Given the description of an element on the screen output the (x, y) to click on. 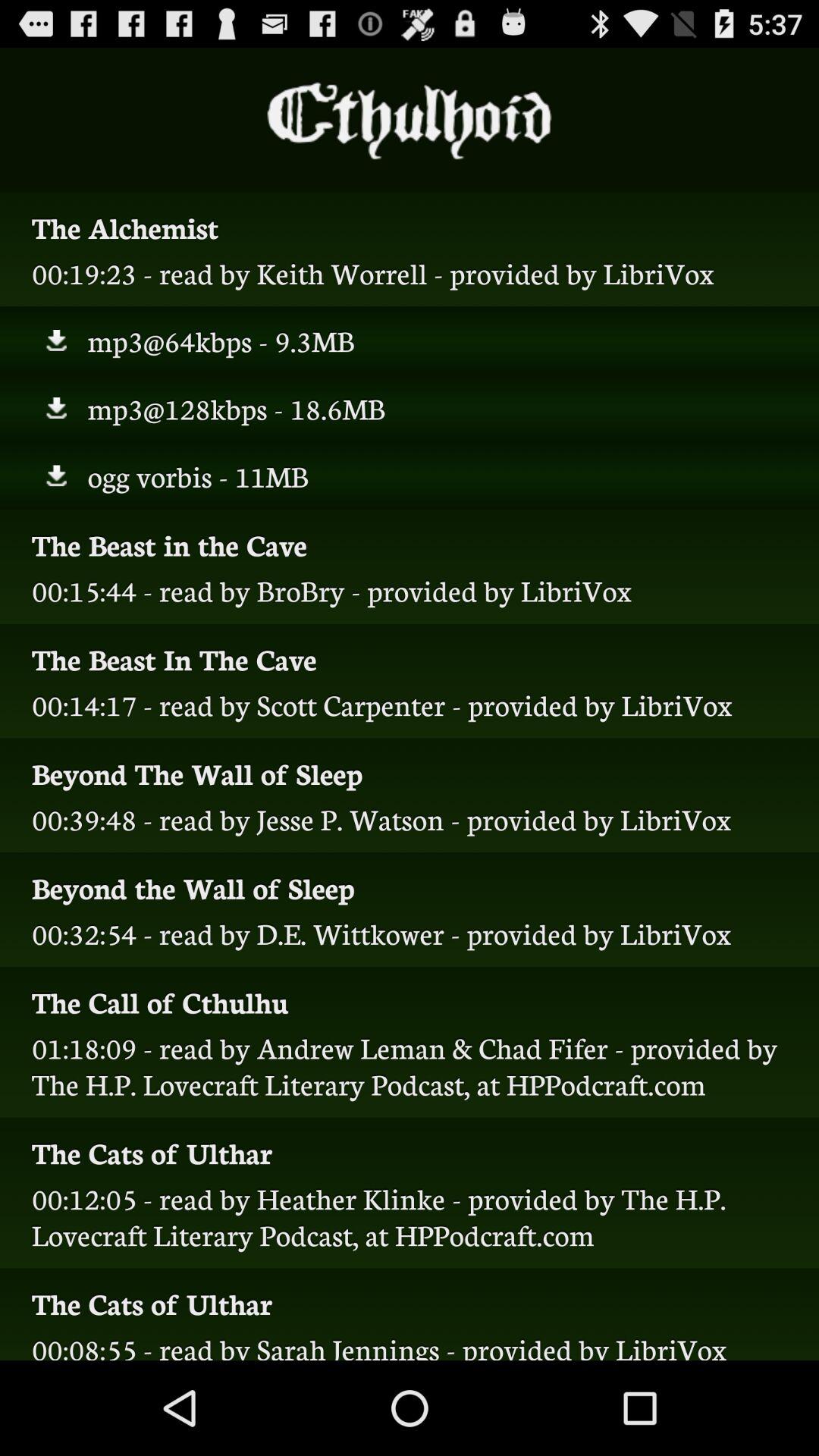
click on the third download button of the page (55, 475)
